Given the description of an element on the screen output the (x, y) to click on. 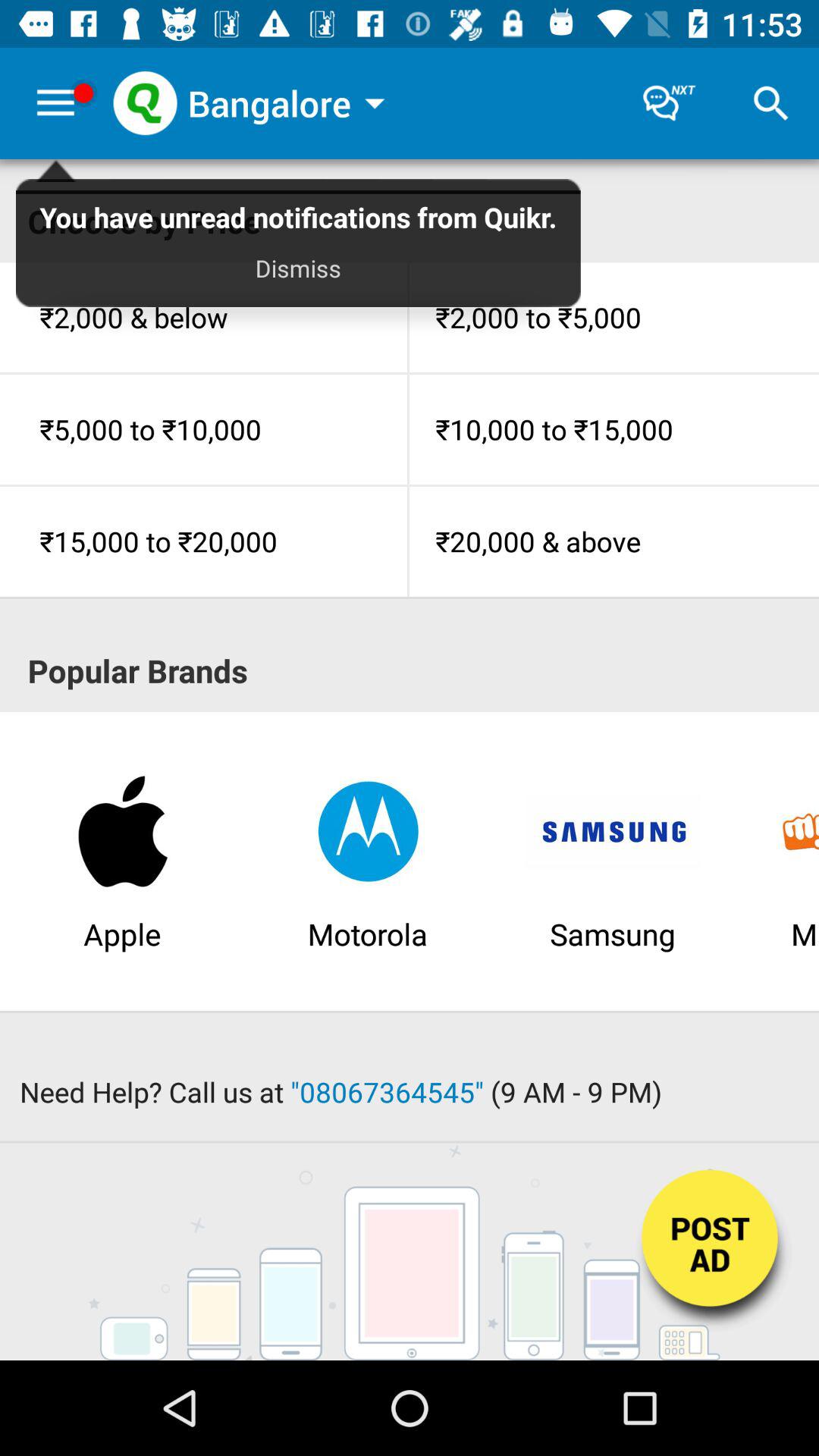
message inbox (669, 103)
